Given the description of an element on the screen output the (x, y) to click on. 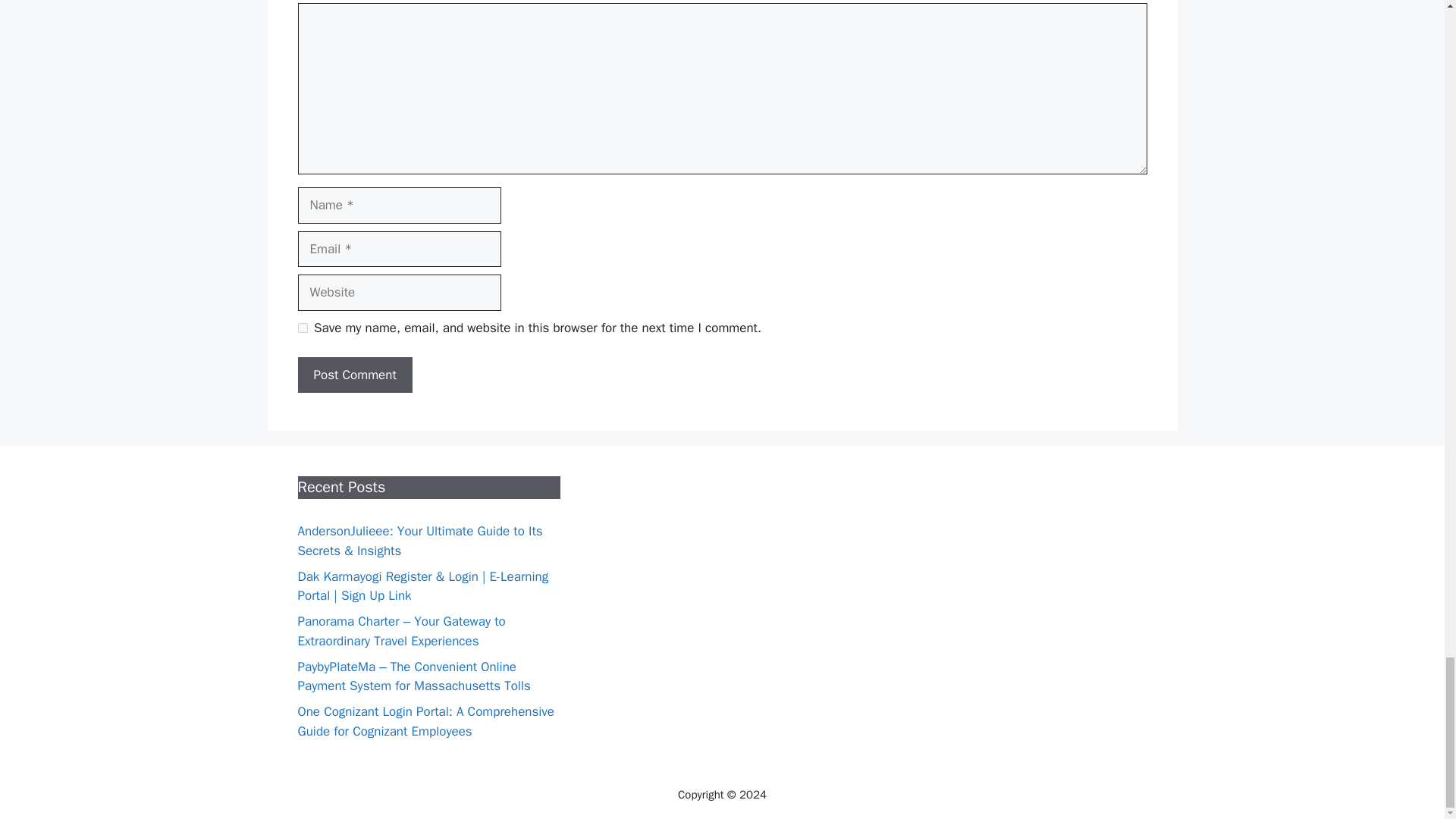
Post Comment (354, 375)
yes (302, 327)
Post Comment (354, 375)
